Given the description of an element on the screen output the (x, y) to click on. 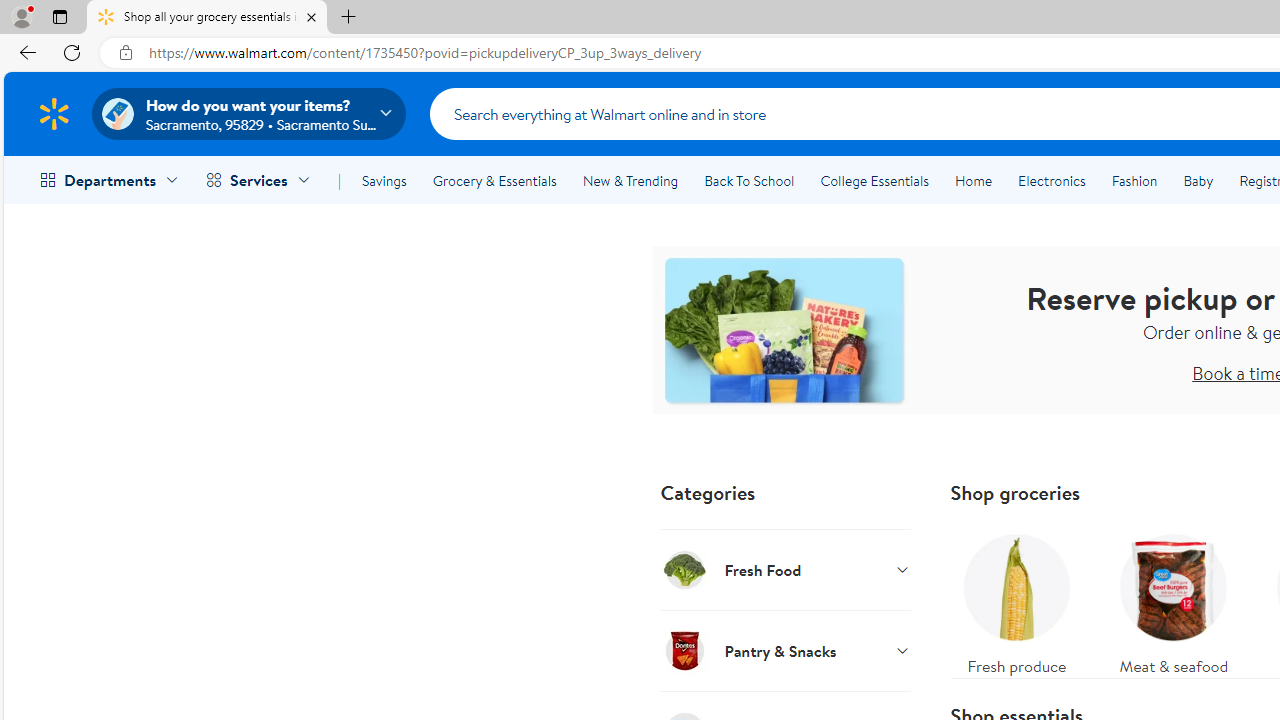
Electronics (1051, 180)
New & Trending (630, 180)
Savings (384, 180)
Savings (384, 180)
Pantry & Snacks (785, 650)
Back To School (749, 180)
Meat & seafood (1174, 599)
Baby (1197, 180)
Walmart Homepage (53, 113)
Fresh produce (1016, 599)
Back To School (749, 180)
